Given the description of an element on the screen output the (x, y) to click on. 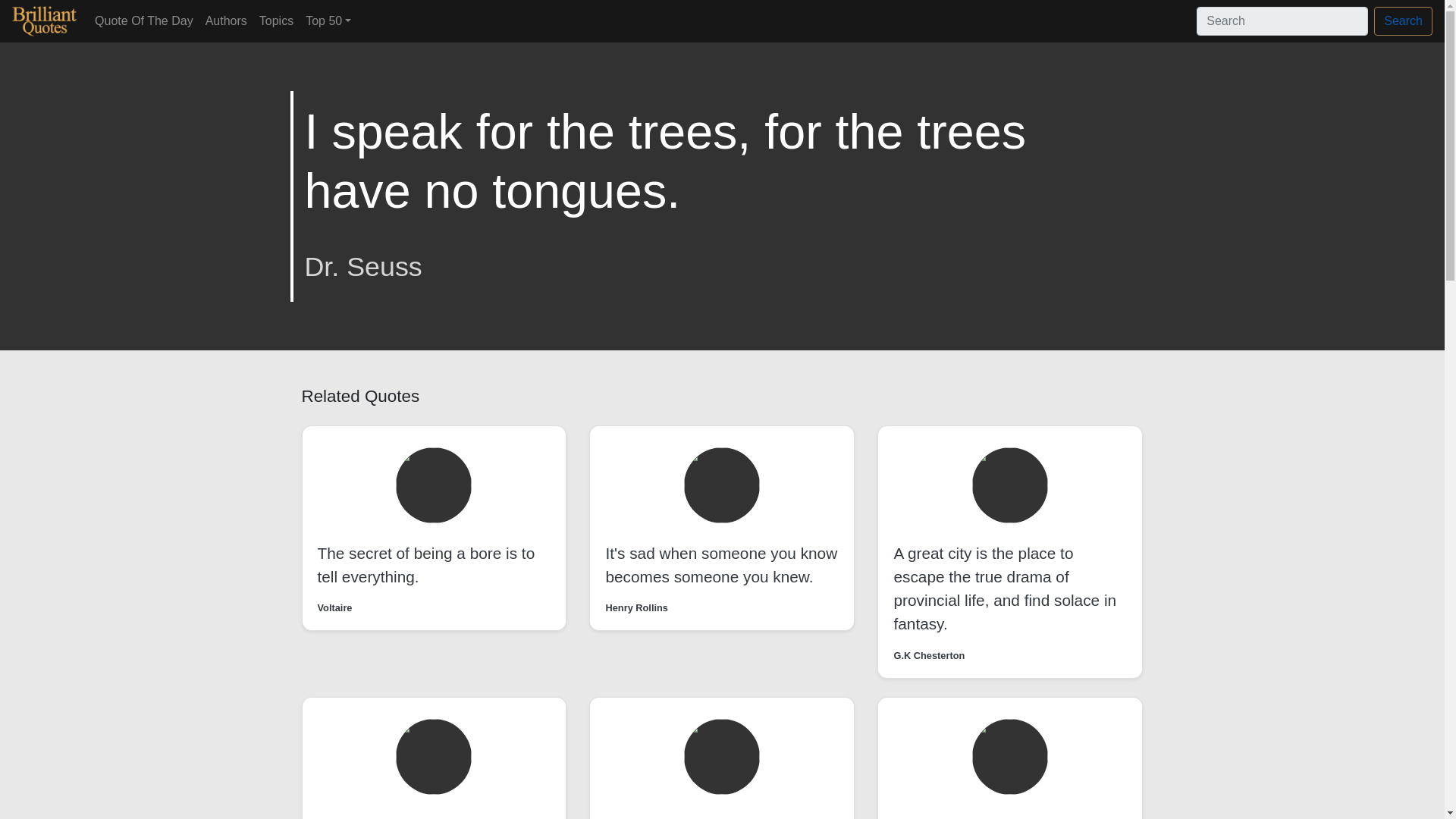
Top 50 (327, 20)
It's sad when someone you know becomes someone you knew. (721, 564)
Search (1403, 21)
Authors (226, 20)
Voltaire (334, 607)
Henry Rollins (636, 607)
G.K Chesterton (928, 655)
Quote Of The Day (143, 20)
